Given the description of an element on the screen output the (x, y) to click on. 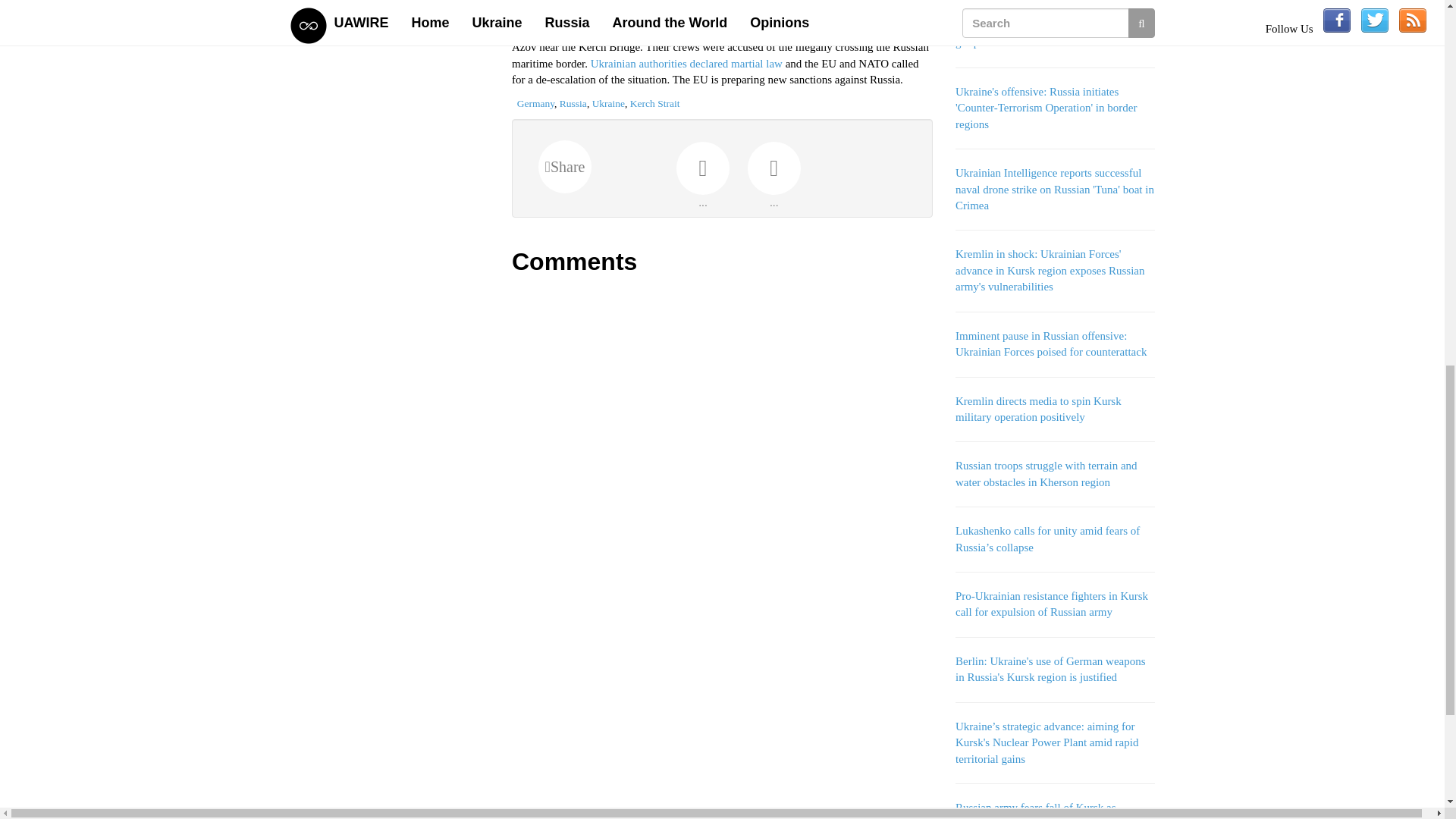
Russia detained three Ukrainian Navy ships (667, 30)
Ukraine (608, 102)
Ukrainian authorities declared martial law (687, 63)
Russia (572, 102)
Germany (535, 102)
